Given the description of an element on the screen output the (x, y) to click on. 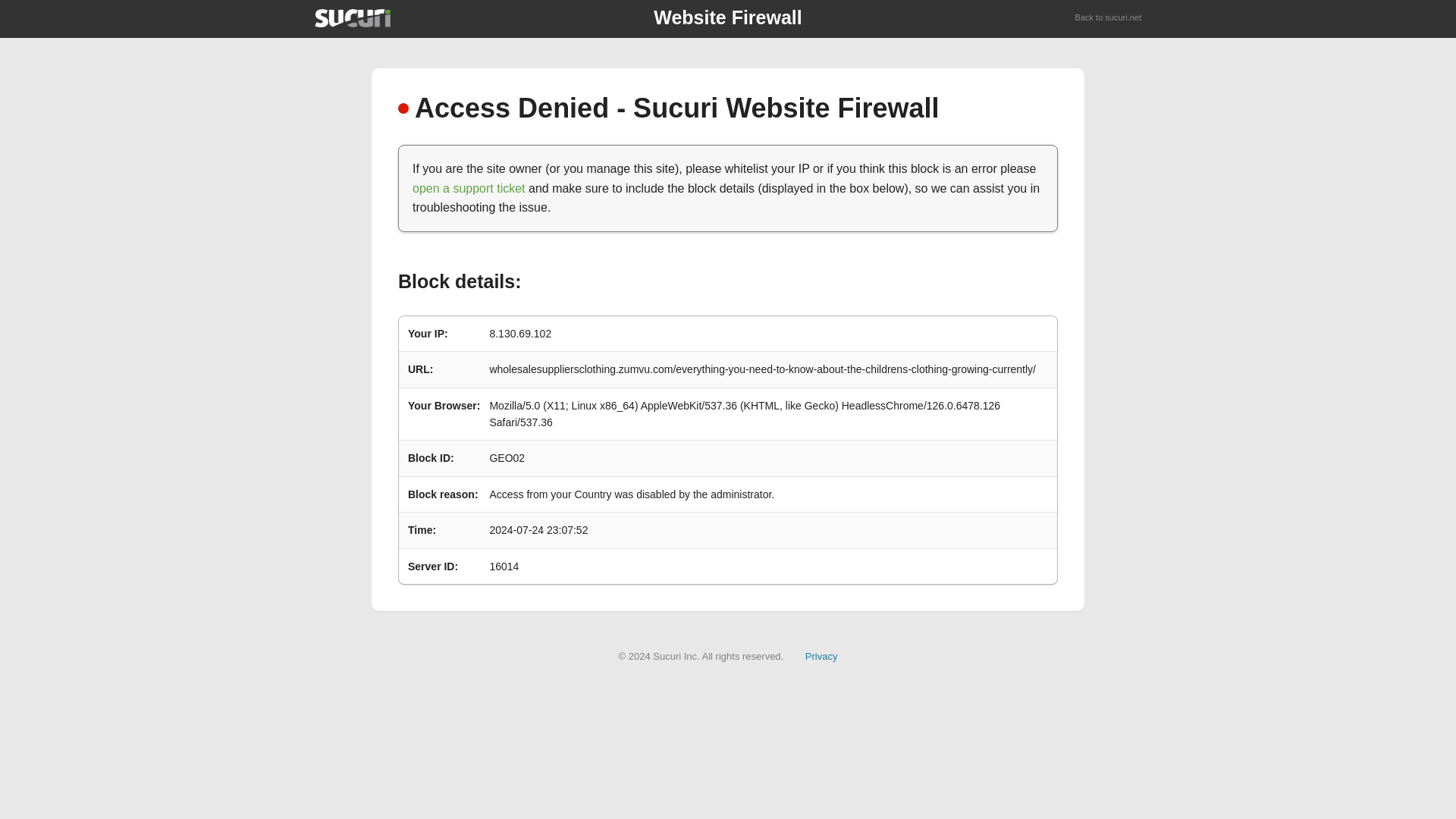
Privacy (821, 655)
open a support ticket (468, 187)
Back to sucuri.net (1108, 18)
